Given the description of an element on the screen output the (x, y) to click on. 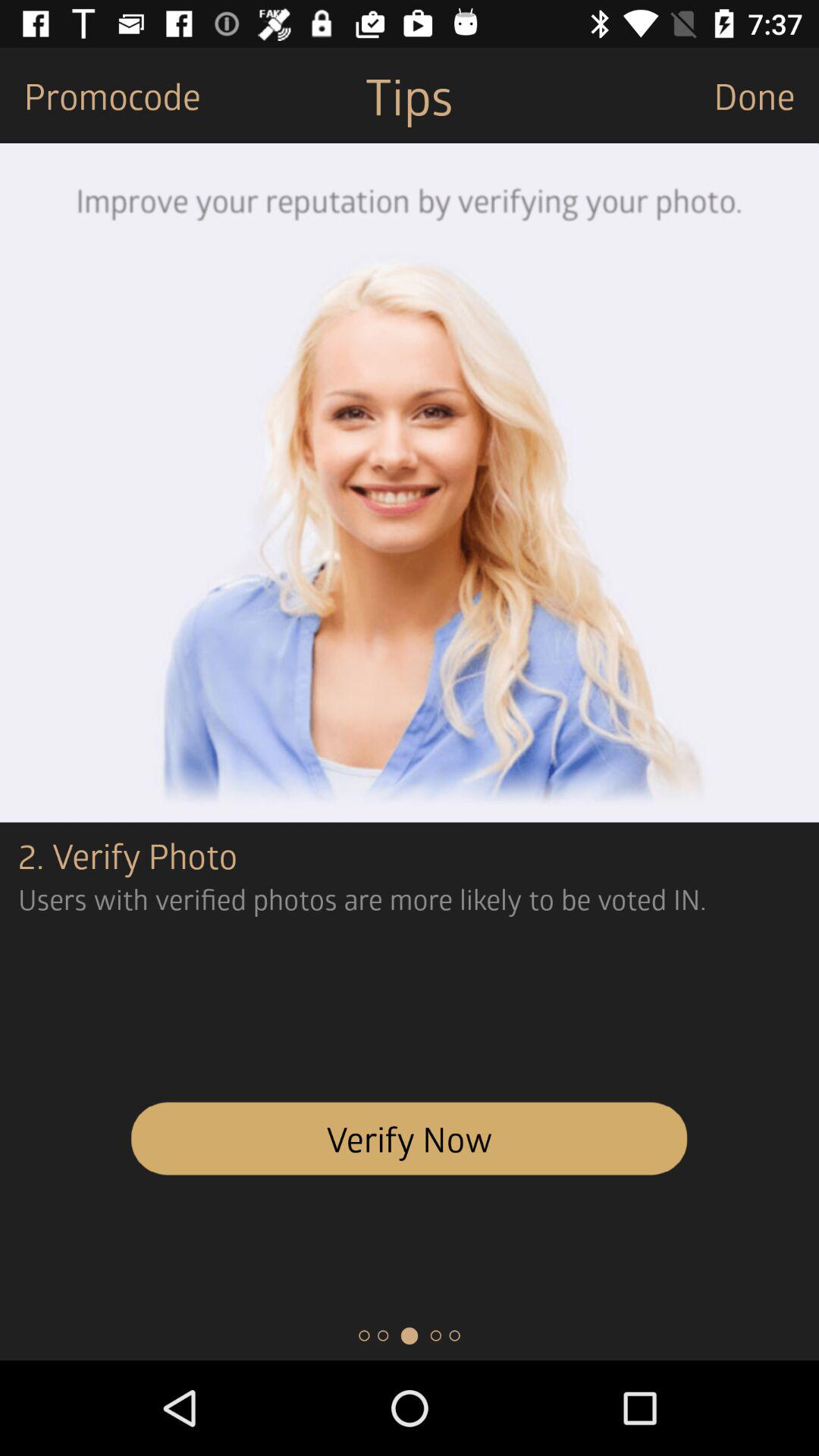
launch icon below the users with verified (409, 1138)
